Given the description of an element on the screen output the (x, y) to click on. 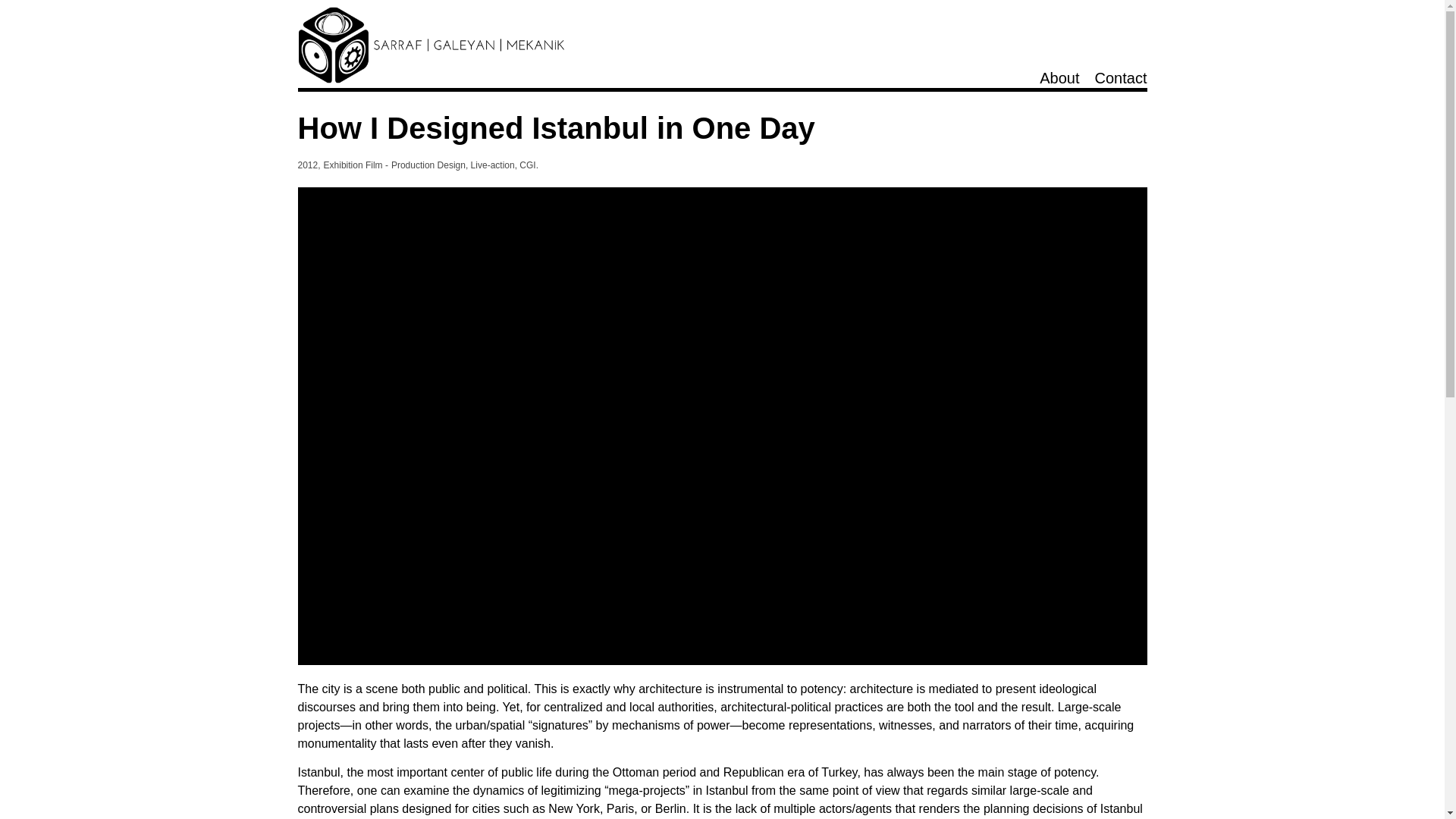
Contact (1120, 77)
About (1058, 77)
